Given the description of an element on the screen output the (x, y) to click on. 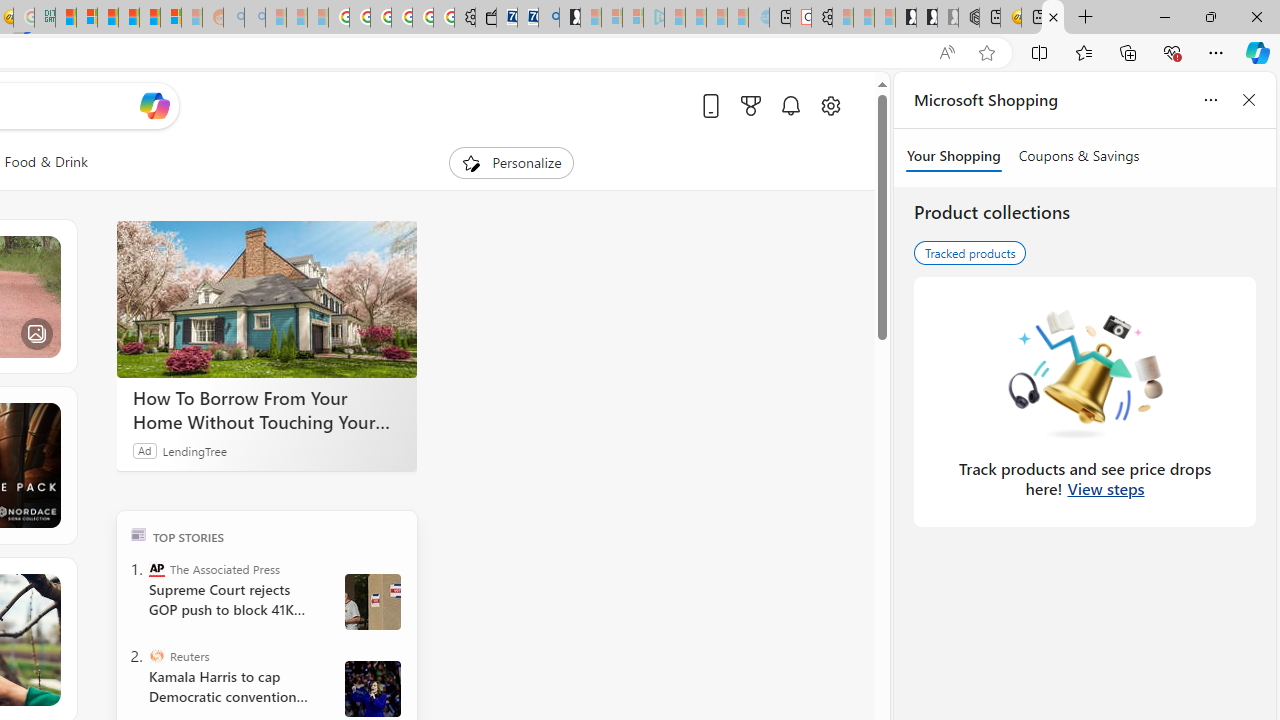
TOP (138, 534)
Bing Real Estate - Home sales and rental listings (548, 17)
Kinda Frugal - MSN (149, 17)
